Given the description of an element on the screen output the (x, y) to click on. 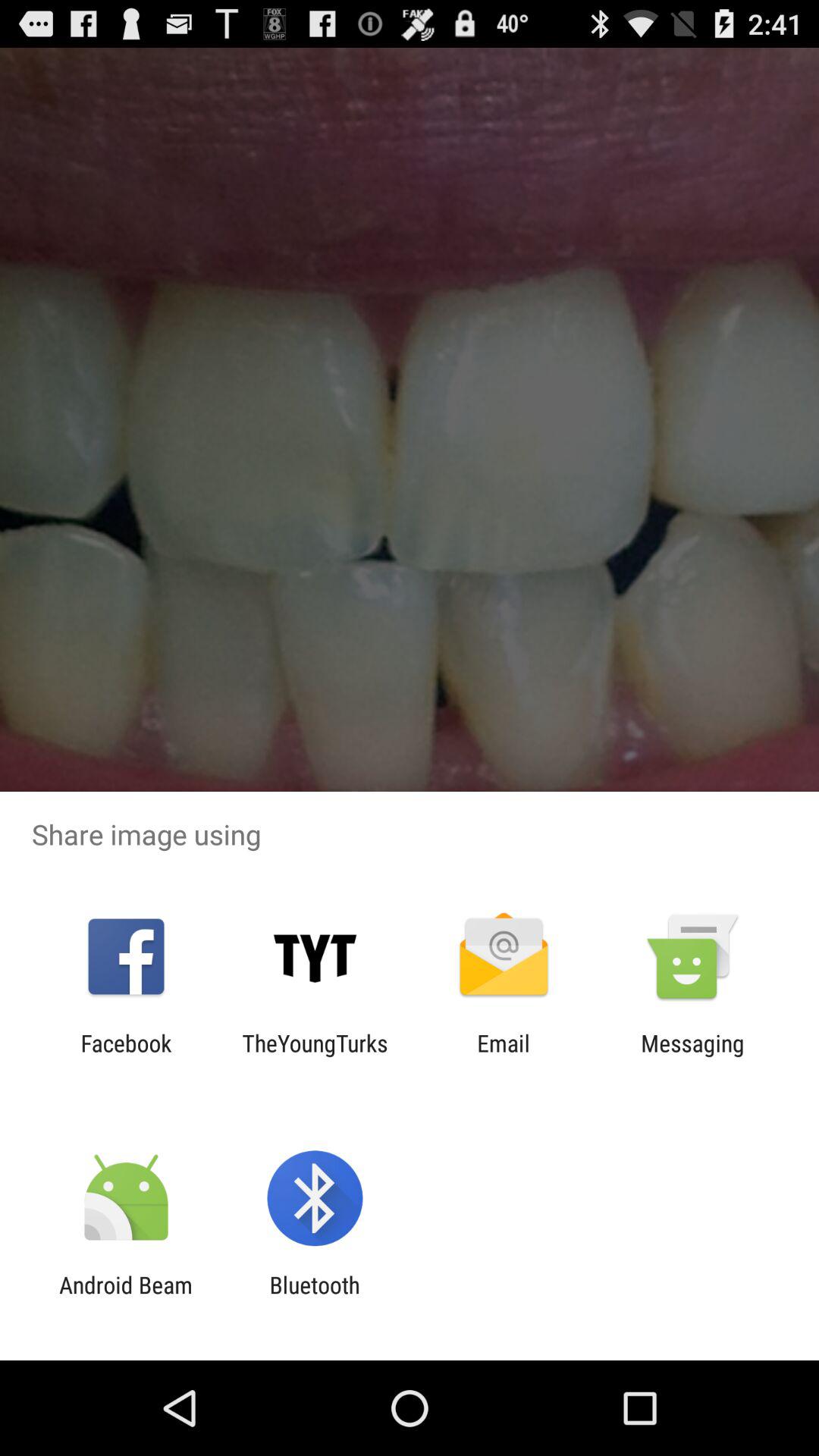
click app next to bluetooth (125, 1298)
